Given the description of an element on the screen output the (x, y) to click on. 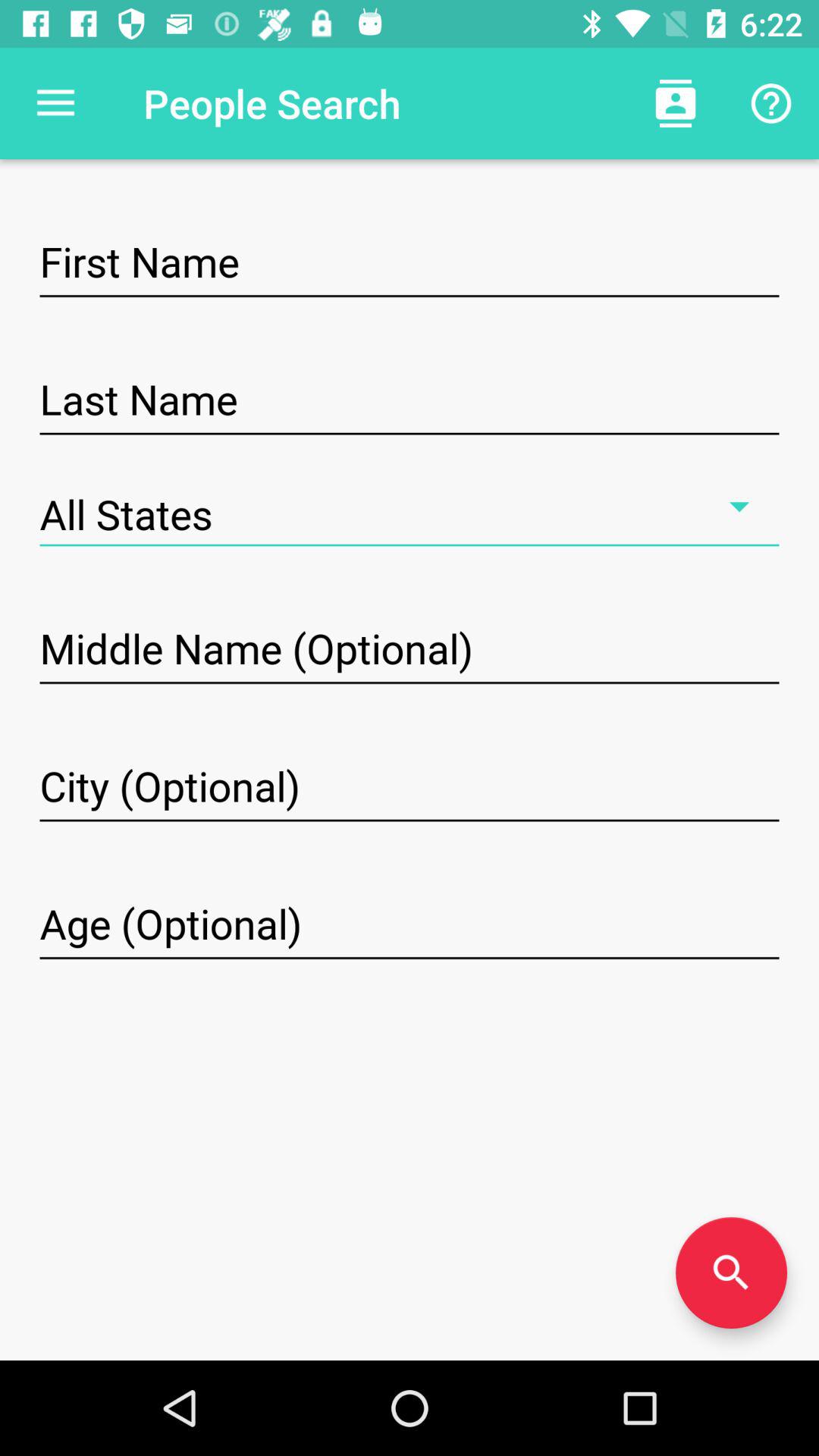
turn on the icon next to the people search icon (675, 103)
